Given the description of an element on the screen output the (x, y) to click on. 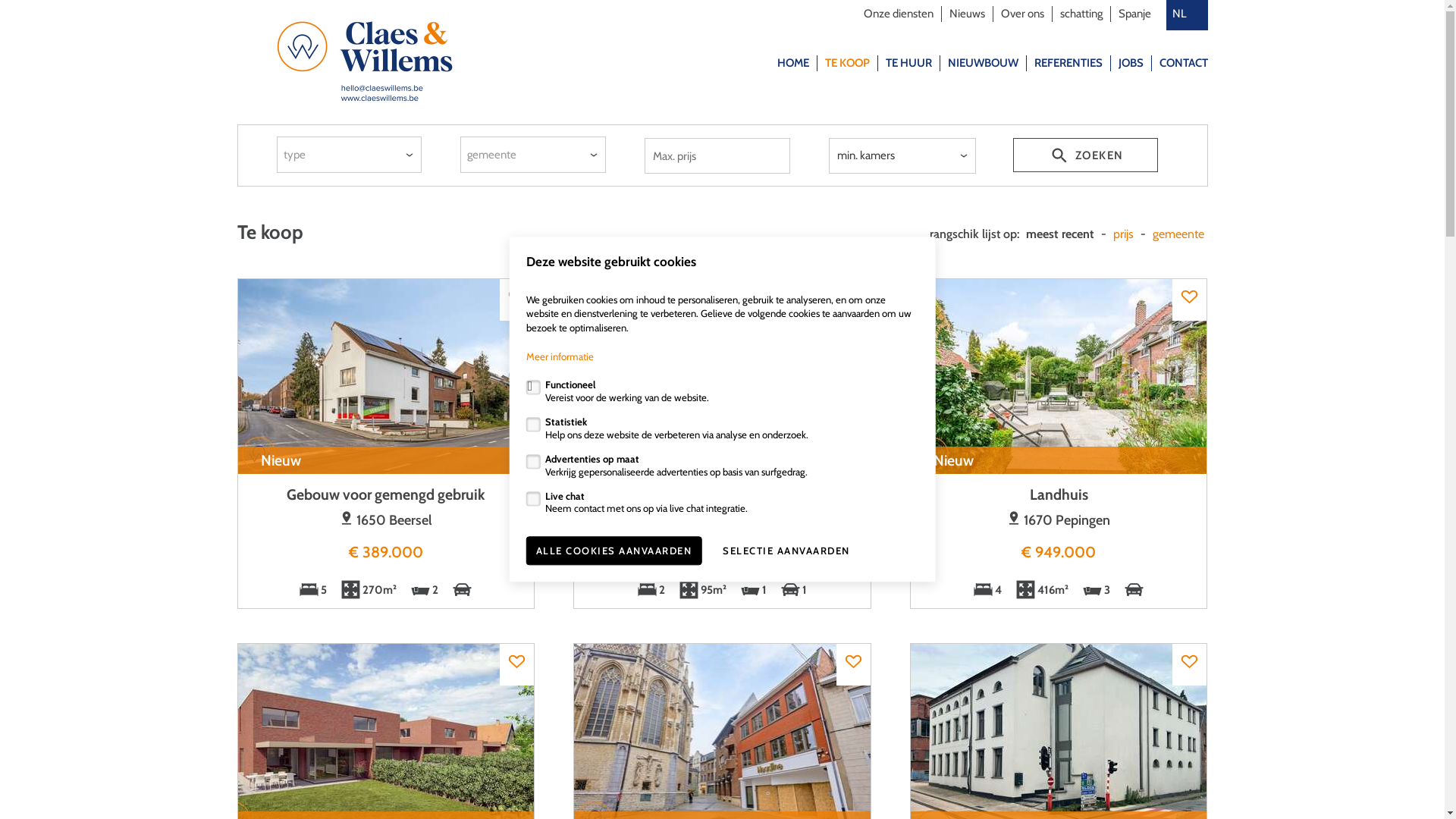
NL Element type: text (1186, 13)
TE HUUR Element type: text (908, 62)
JOBS Element type: text (1129, 62)
Over ons Element type: text (1022, 13)
type Element type: text (349, 154)
gemeente Element type: text (1177, 233)
meest recent Element type: text (1060, 233)
Meer informatie Element type: text (559, 356)
TE KOOP Element type: text (847, 62)
Onze diensten Element type: text (897, 13)
gemeente Element type: text (532, 154)
ALLE COOKIES AANVAARDEN Element type: text (614, 550)
Spanje Element type: text (1133, 13)
Nieuws Element type: text (967, 13)
REFERENTIES Element type: text (1068, 62)
NIEUWBOUW Element type: text (982, 62)
schatting Element type: text (1081, 13)
ZOEKEN Element type: text (1085, 155)
CONTACT Element type: text (1182, 62)
prijs Element type: text (1122, 233)
SELECTIE AANVAARDEN Element type: text (785, 550)
HOME Element type: text (792, 62)
